Given the description of an element on the screen output the (x, y) to click on. 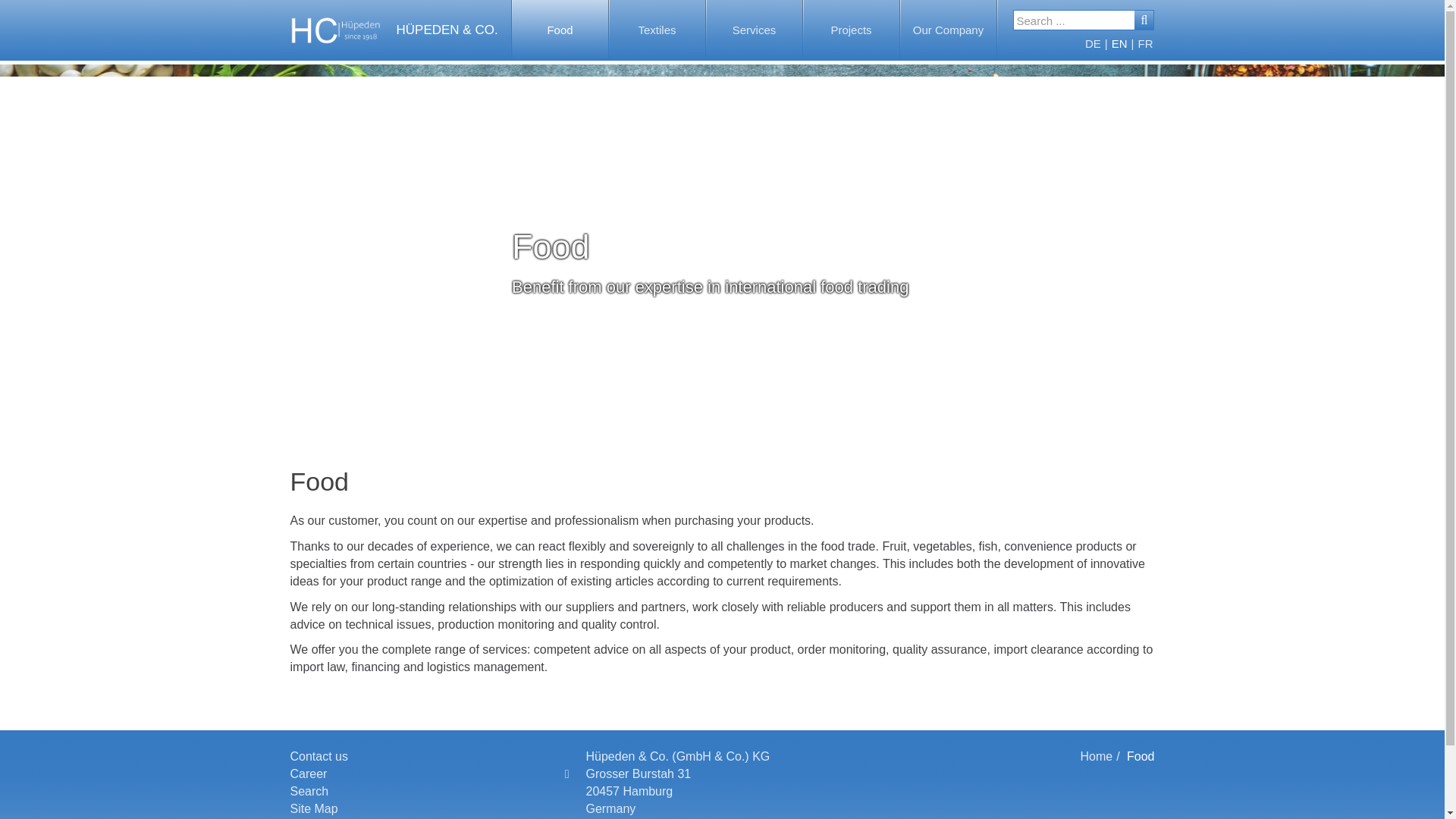
to the homepage (389, 30)
Food (560, 30)
Textiles (656, 30)
Our Company (947, 30)
Projects (851, 30)
Services (754, 30)
Textiles (656, 30)
Services (754, 30)
Food (560, 30)
